Given the description of an element on the screen output the (x, y) to click on. 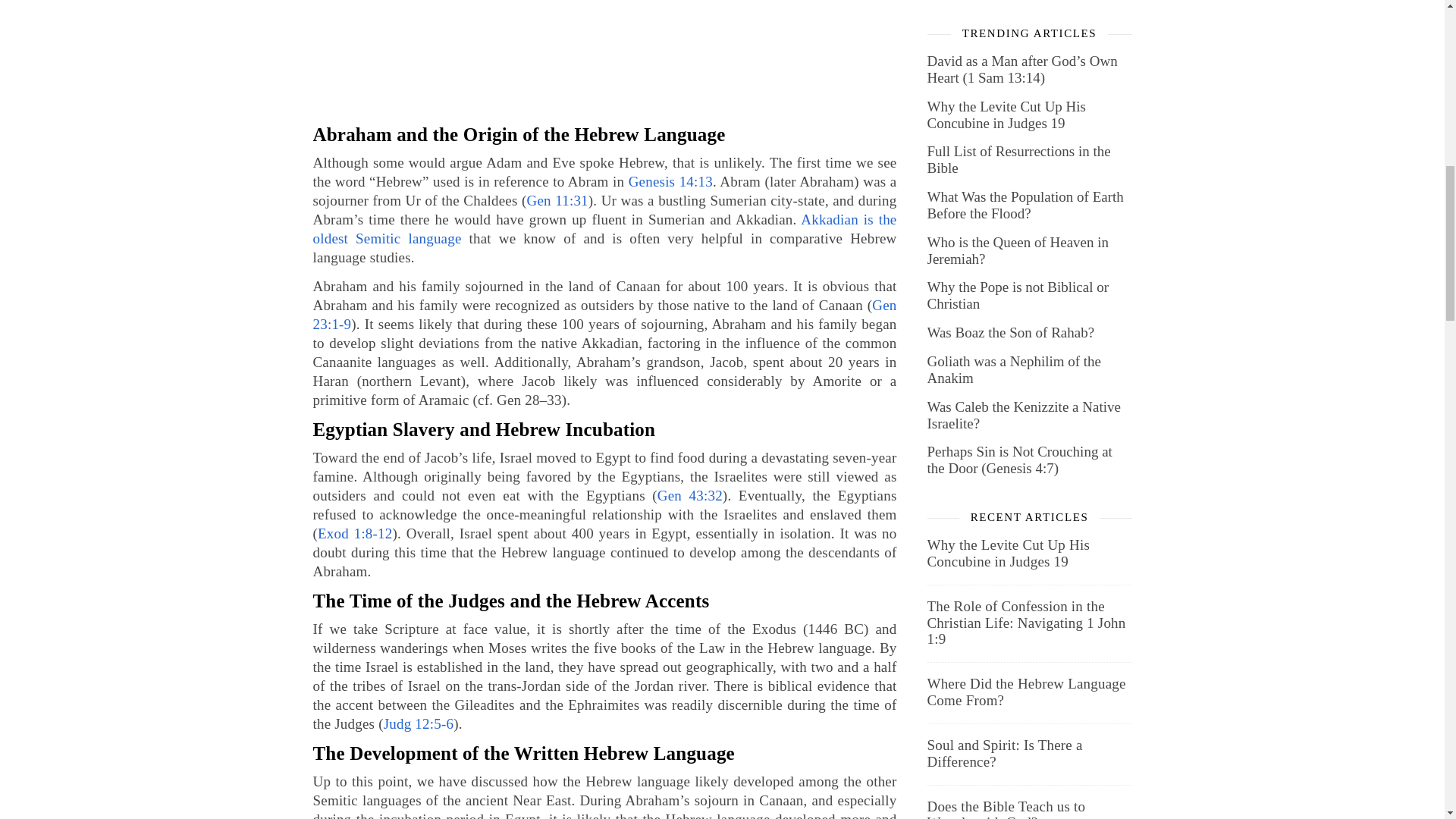
Akkadian is the oldest Semitic language (604, 228)
Genesis 14:13 (670, 181)
Gen 43:32 (690, 495)
Judg 12:5-6 (418, 723)
Gen 23:1-9 (604, 314)
Gen 11:31 (557, 200)
Exod 1:8-12 (354, 533)
